Given the description of an element on the screen output the (x, y) to click on. 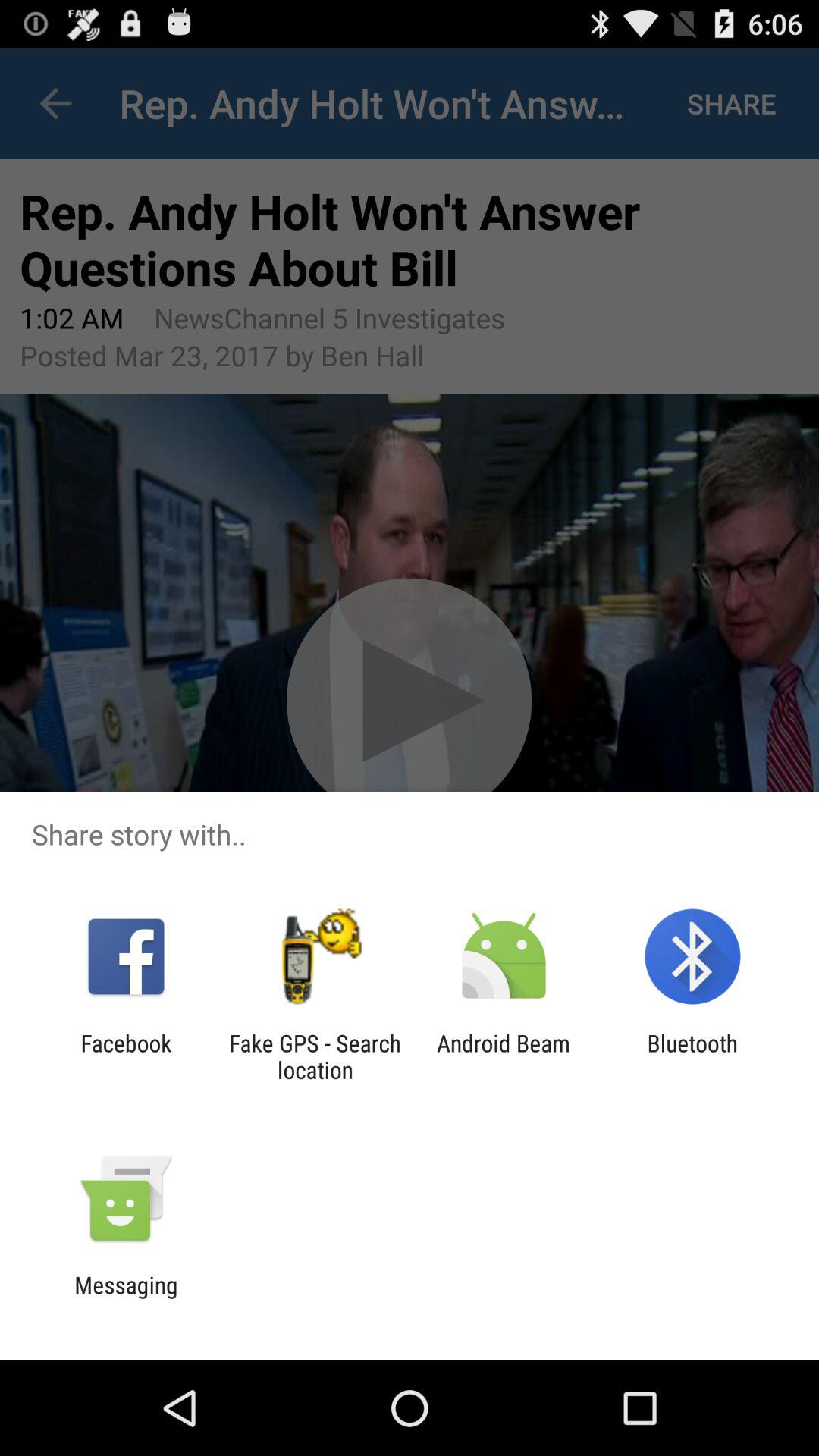
choose item next to the bluetooth item (503, 1056)
